Given the description of an element on the screen output the (x, y) to click on. 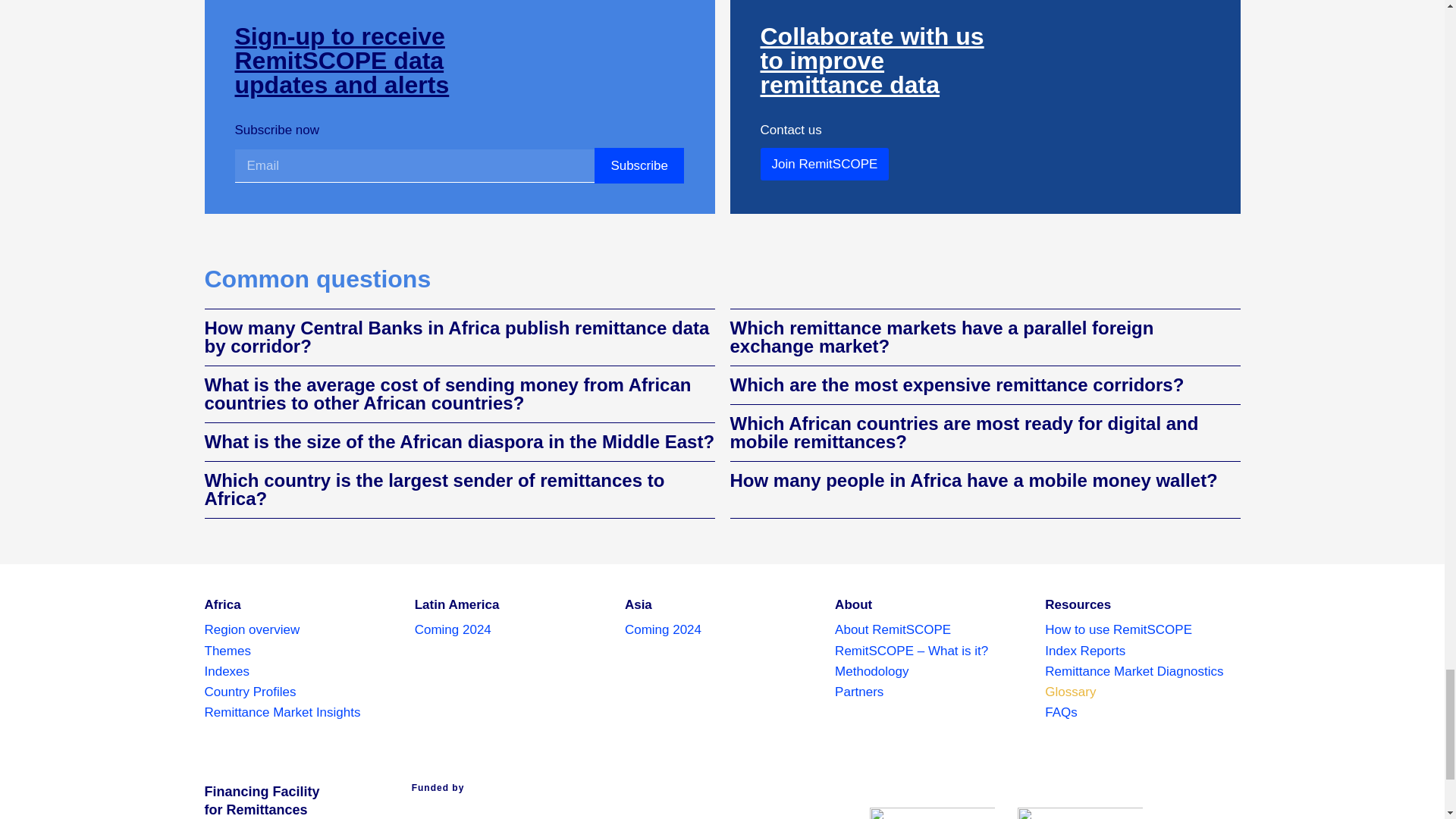
Join RemitSCOPE (824, 164)
Country Profiles (301, 691)
Which are the most expensive remittance corridors? (956, 384)
Coming 2024 (662, 629)
Themes (301, 650)
Remittance Market Insights (301, 711)
What is the size of the African diaspora in the Middle East? (459, 441)
Coming 2024 (453, 629)
Indexes (301, 670)
Subscribe (639, 165)
How many people in Africa have a mobile money wallet? (973, 480)
